Given the description of an element on the screen output the (x, y) to click on. 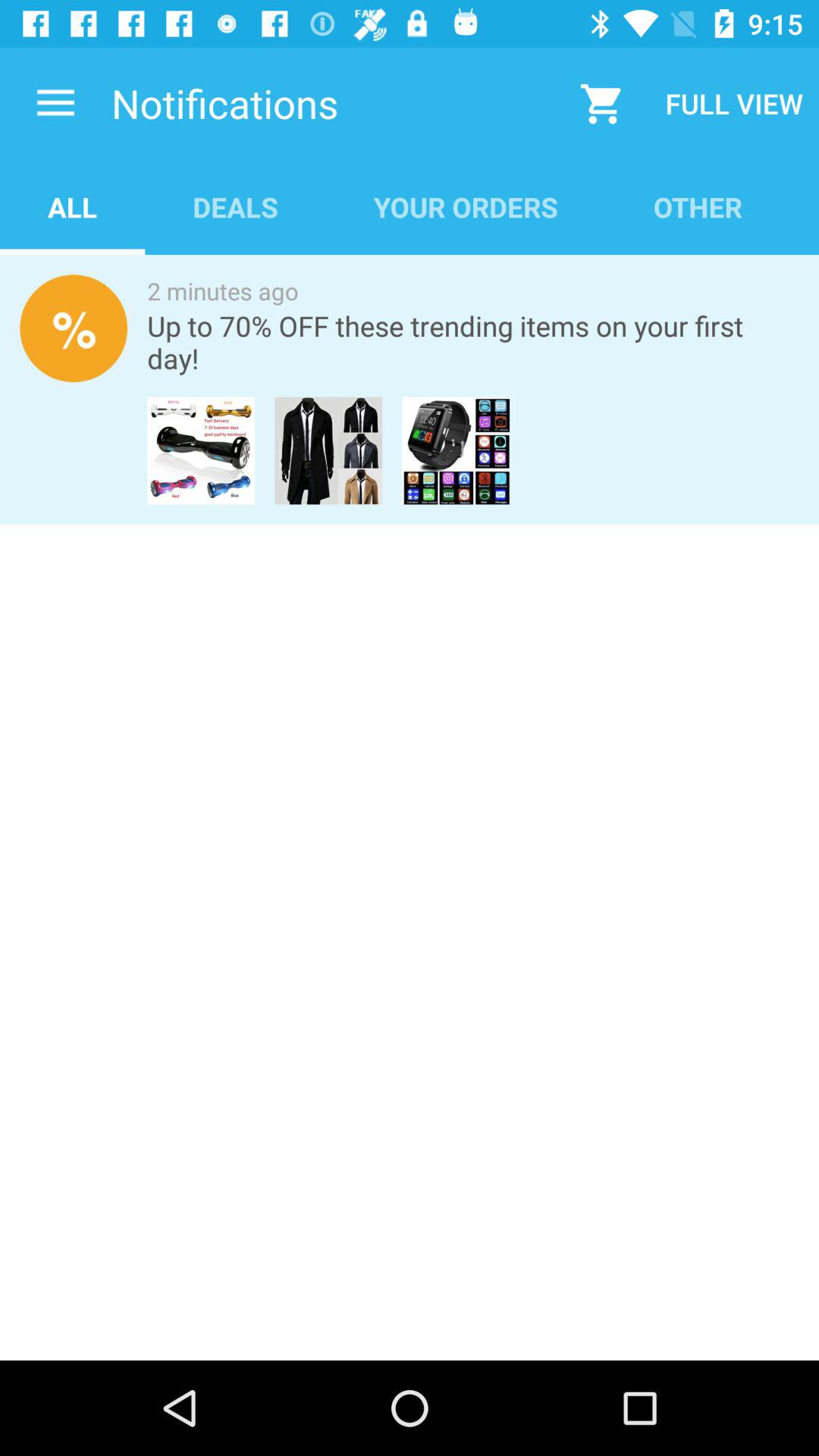
click the item next to the your orders item (697, 206)
